Given the description of an element on the screen output the (x, y) to click on. 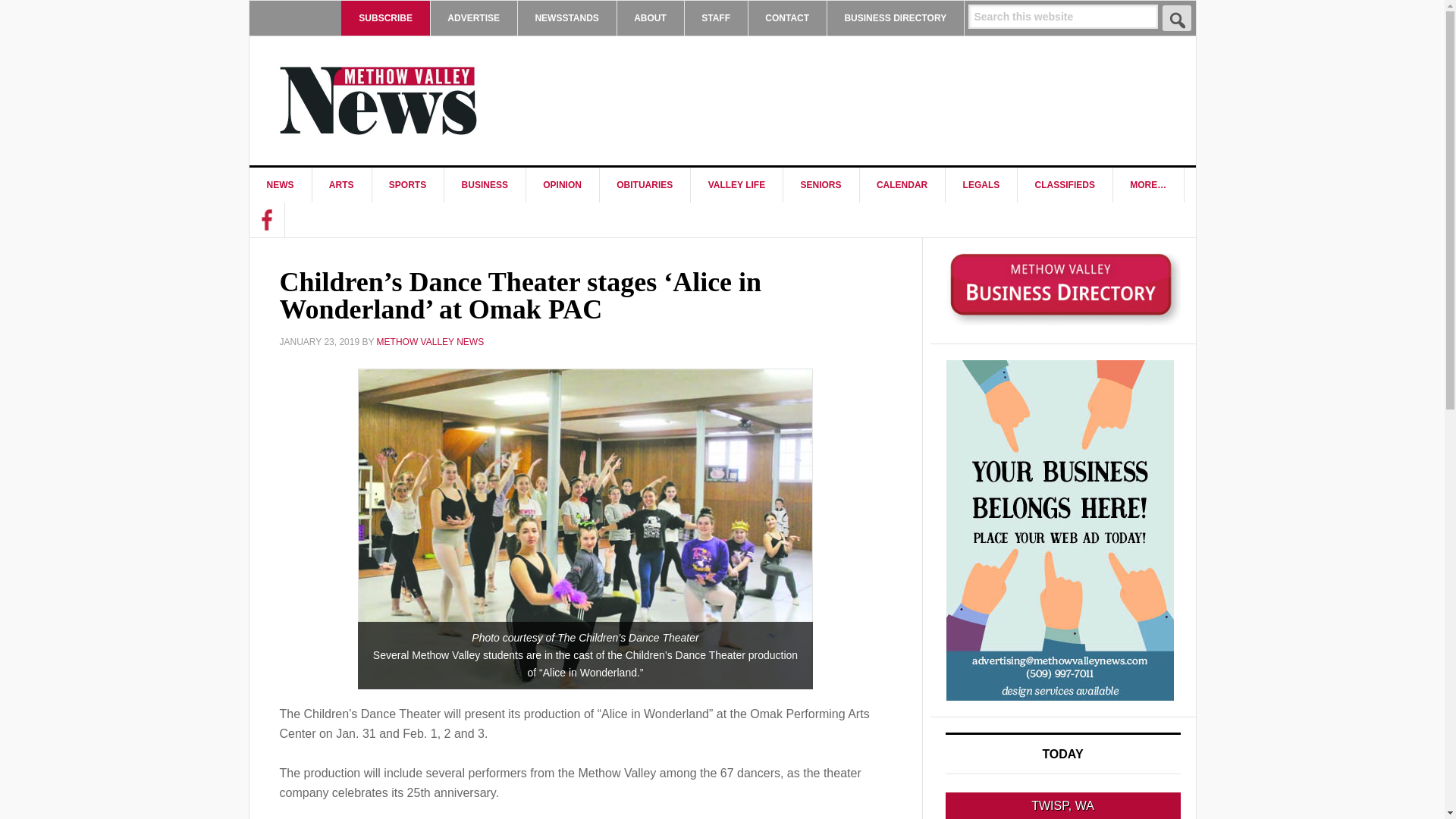
NEWS (279, 184)
LEGALS (980, 184)
BUSINESS (484, 184)
BUSINESS DIRECTORY (895, 18)
CALENDAR (901, 184)
CLASSIFIEDS (1065, 184)
METHOW VALLEY NEWS (377, 100)
STAFF (716, 18)
ABOUT (649, 18)
VALLEY LIFE (737, 184)
ARTS (341, 184)
ADVERTISE (473, 18)
SUBSCRIBE (385, 18)
CONTACT (787, 18)
